Given the description of an element on the screen output the (x, y) to click on. 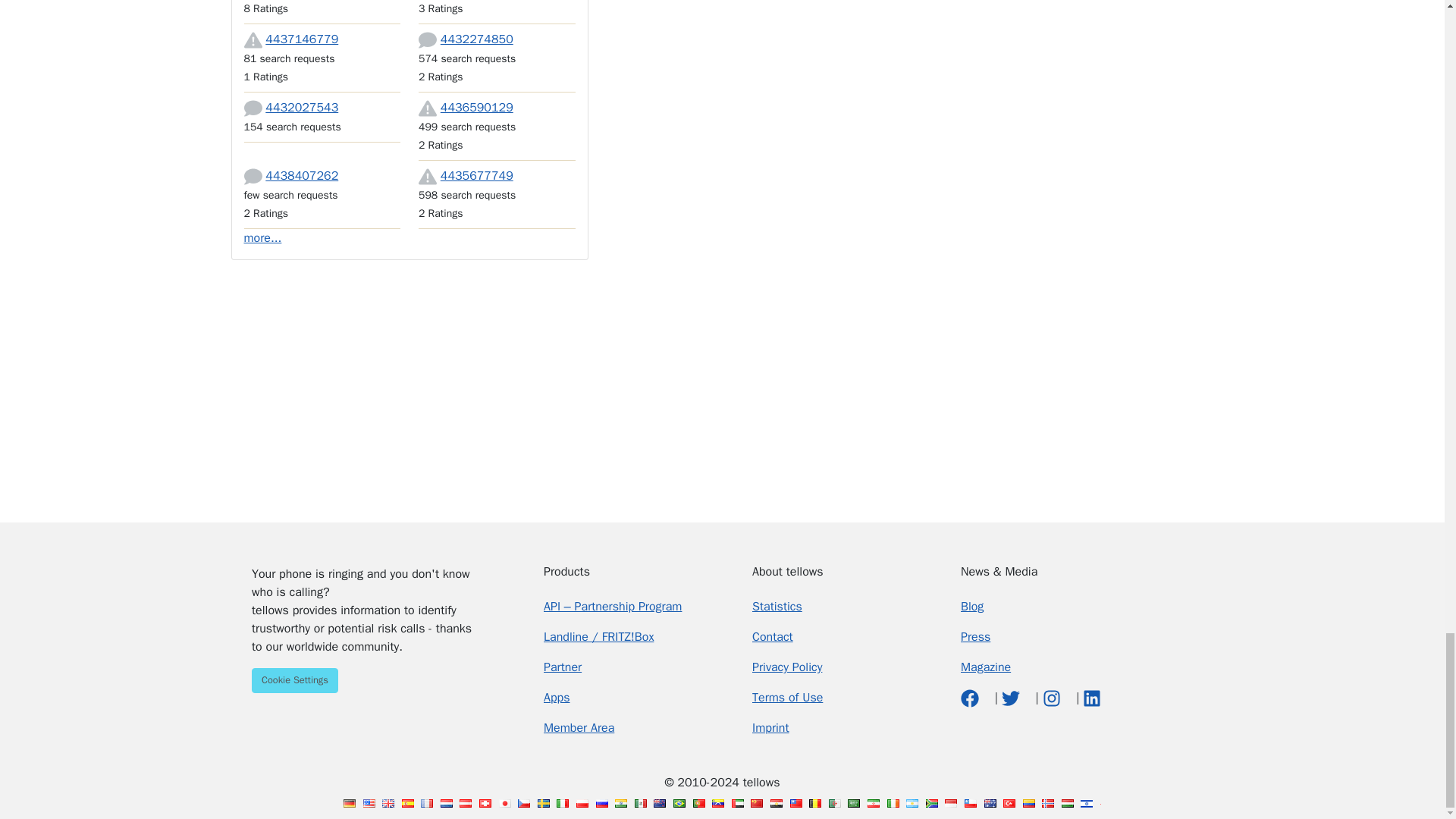
LinkedIn (1091, 697)
Facebook (971, 697)
tellows France (426, 803)
tellows Great Britain (387, 803)
tellows Austria (465, 803)
Presse (975, 636)
Blog (972, 606)
tellows Germany (349, 803)
Magazin (985, 667)
twitter (1012, 697)
tellows USA (368, 803)
tellows Spain (407, 803)
tellows Netherlands (446, 803)
Instagram (1053, 697)
